Given the description of an element on the screen output the (x, y) to click on. 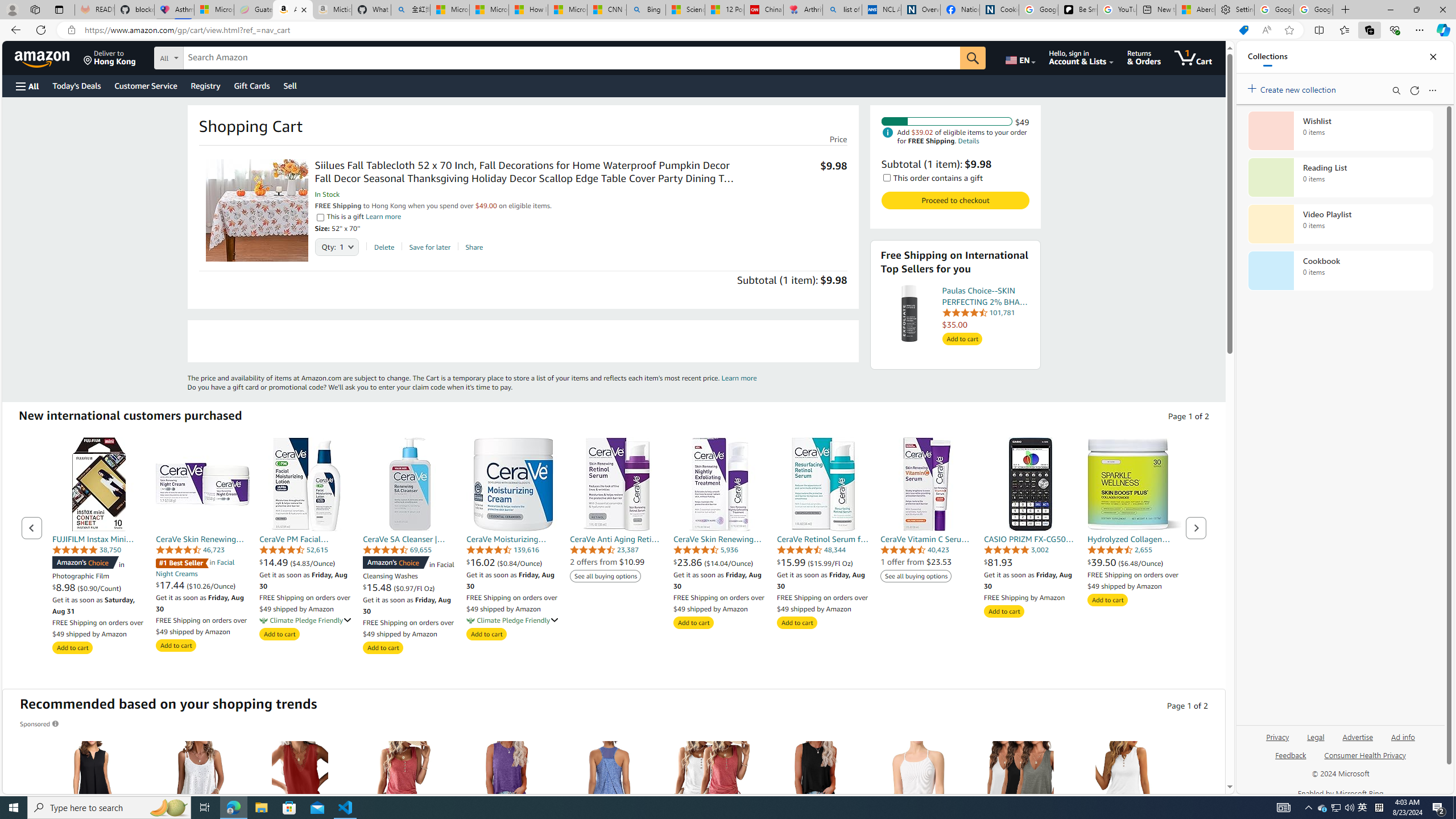
Privacy (1278, 736)
Be Smart | creating Science videos | Patreon (1077, 9)
FUJIFILM Instax Mini Contact Sheet Film - 10 Exposures (98, 484)
Leave feedback on Sponsored ad (39, 723)
Legal (1315, 741)
